Given the description of an element on the screen output the (x, y) to click on. 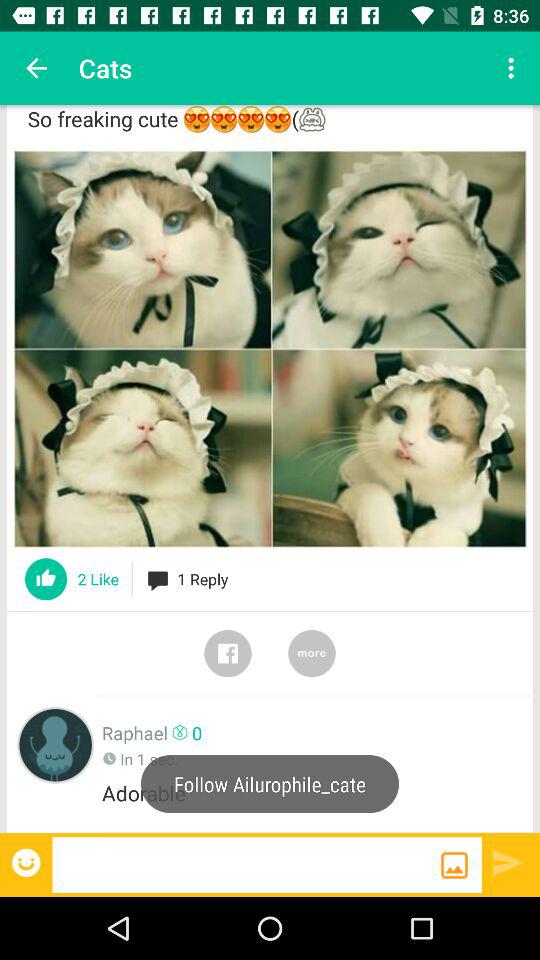
open image (269, 348)
